Given the description of an element on the screen output the (x, y) to click on. 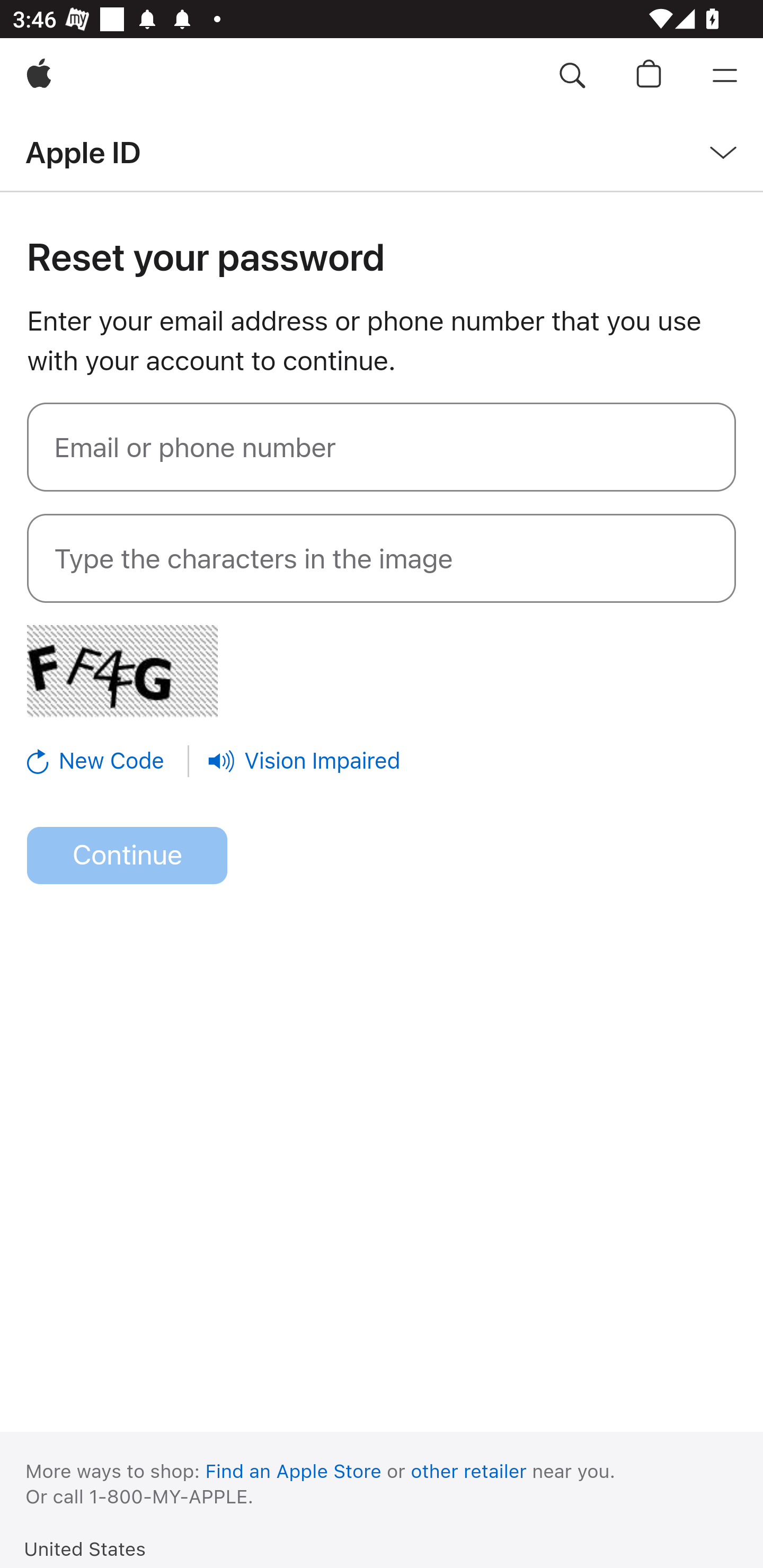
Apple (38, 75)
Search apple.com (572, 75)
Shopping Bag (648, 75)
Menu (724, 75)
Apple ID (83, 151)
 New Code (108, 760)
 Vision Impaired (304, 760)
Continue (126, 855)
Find an Apple Store (293, 1470)
other retailer (468, 1470)
United States (84, 1548)
